Given the description of an element on the screen output the (x, y) to click on. 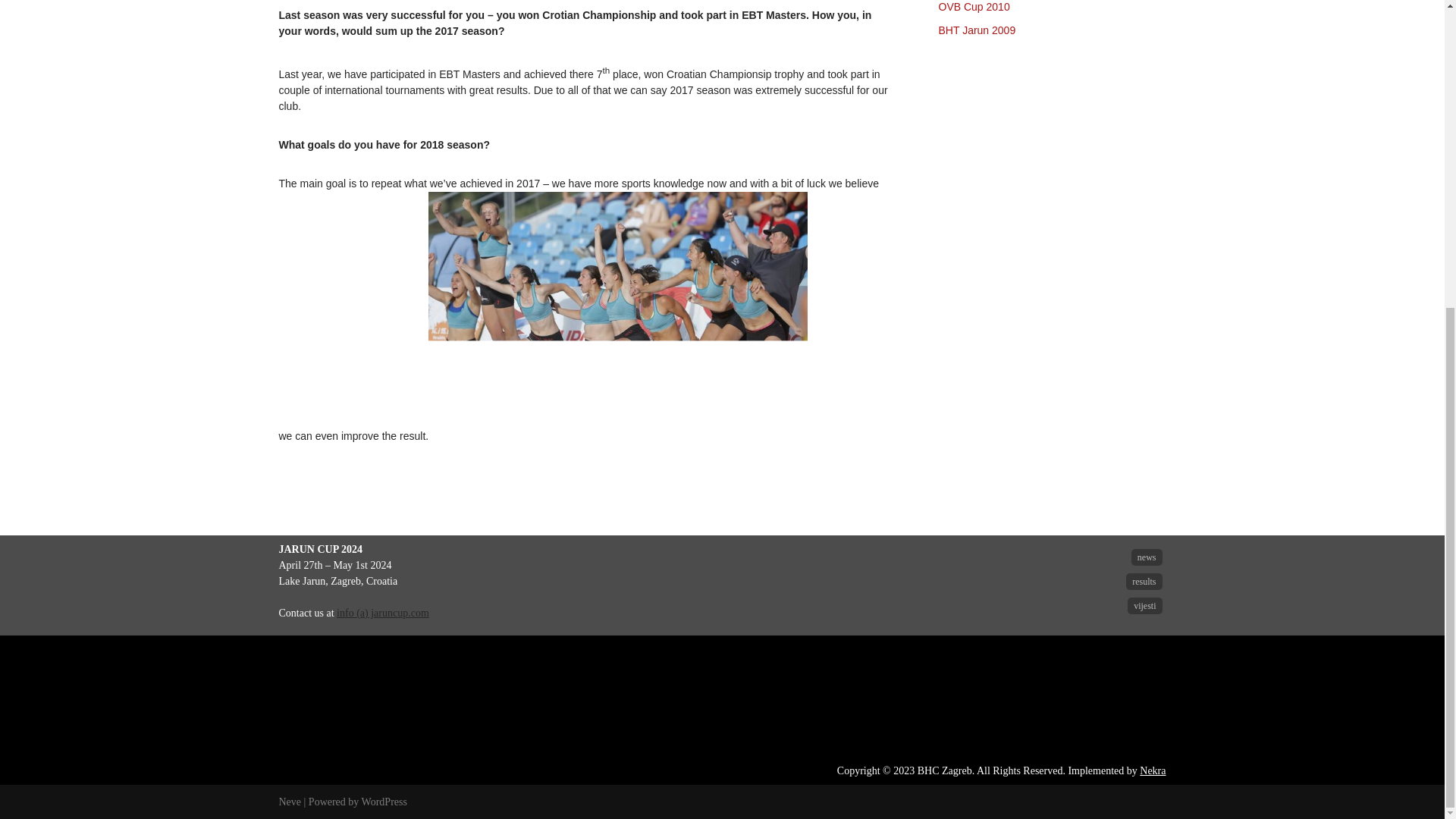
results (1143, 581)
vijesti (1143, 605)
WordPress (384, 801)
Nekra (1153, 770)
Neve (290, 801)
news (1146, 556)
OVB Cup 2010 (974, 6)
BHT Jarun 2009 (977, 30)
